Given the description of an element on the screen output the (x, y) to click on. 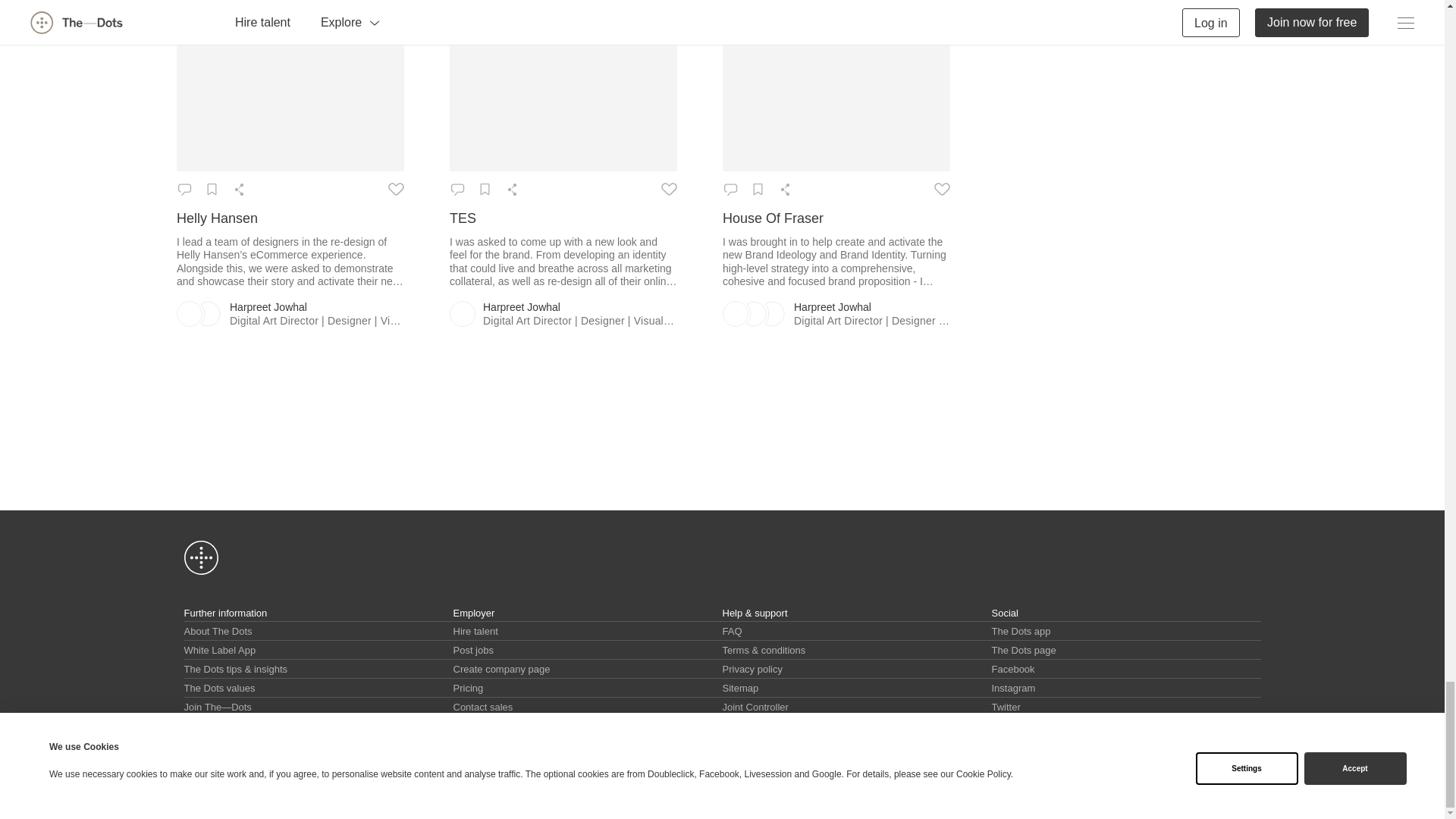
Helly Hansen (289, 218)
